Given the description of an element on the screen output the (x, y) to click on. 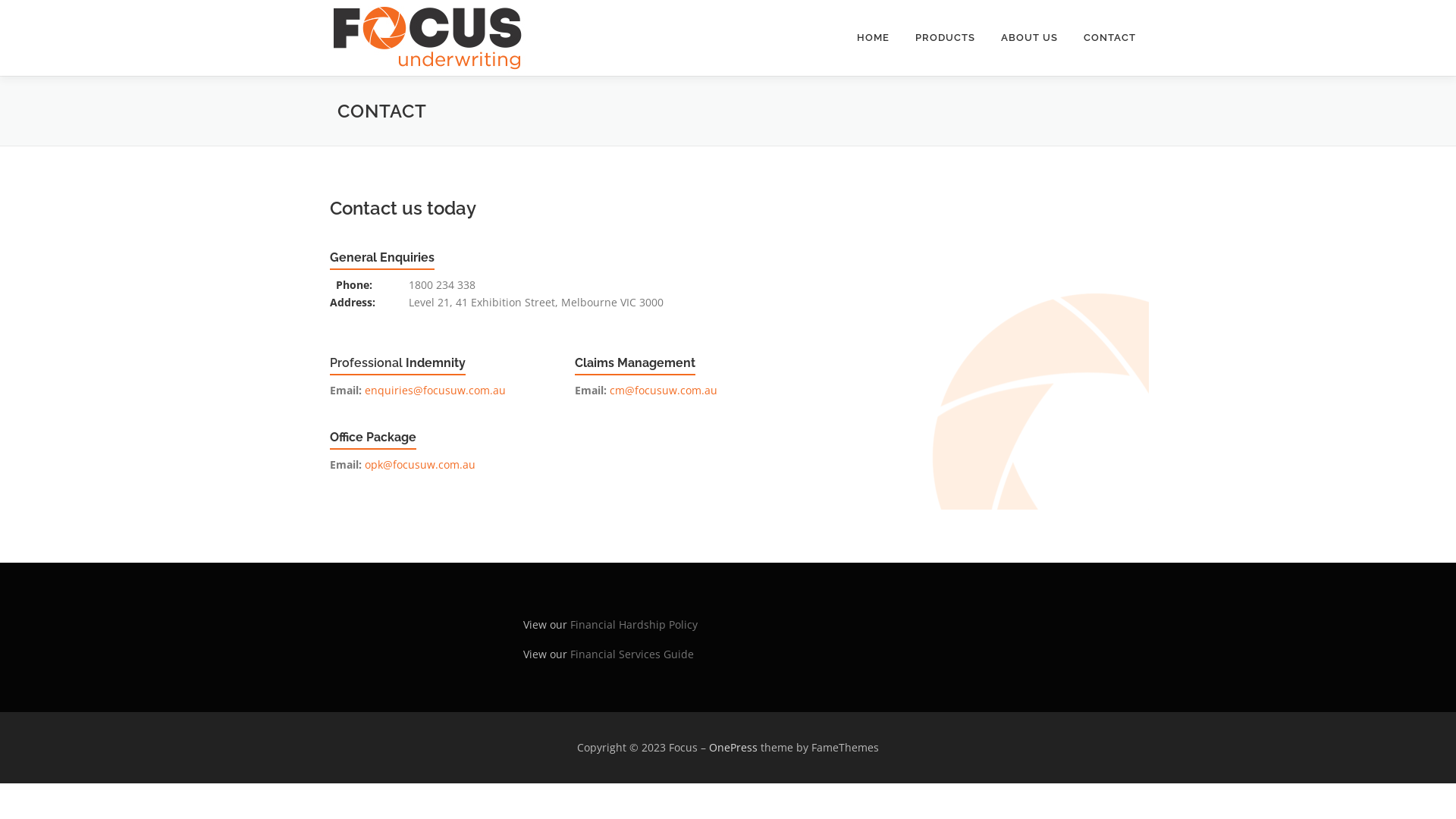
HOME Element type: text (873, 37)
PRODUCTS Element type: text (945, 37)
ABOUT US Element type: text (1029, 37)
CONTACT Element type: text (1109, 37)
Financial Services Guide Element type: text (631, 653)
opk@focusuw.com.au Element type: text (419, 464)
Financial Hardship Policy Element type: text (632, 624)
cm@focusuw.com.au Element type: text (663, 389)
OnePress Element type: text (733, 747)
enquiries@focusuw.com.au Element type: text (434, 389)
